Given the description of an element on the screen output the (x, y) to click on. 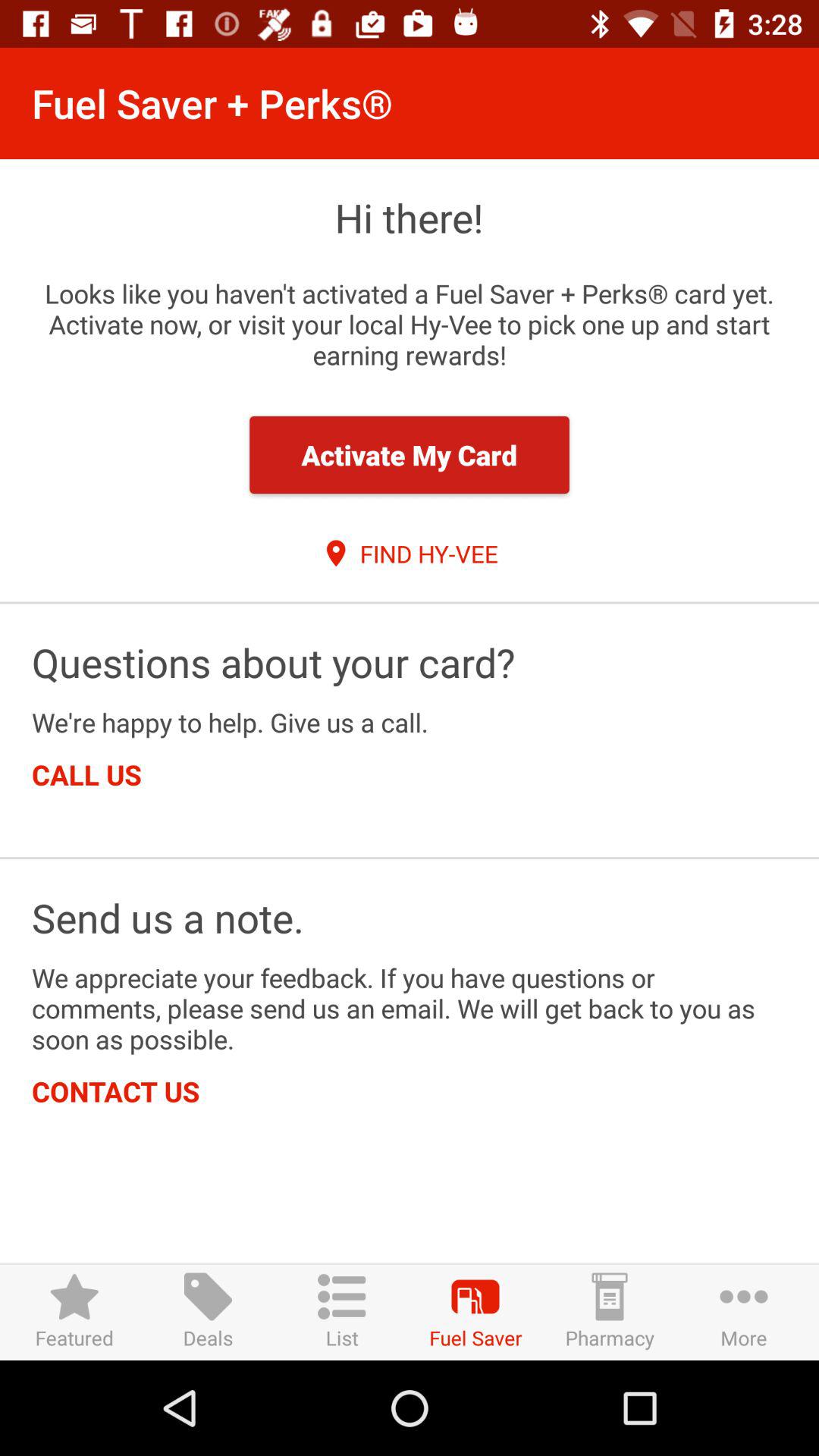
tap the list item (341, 1311)
